Given the description of an element on the screen output the (x, y) to click on. 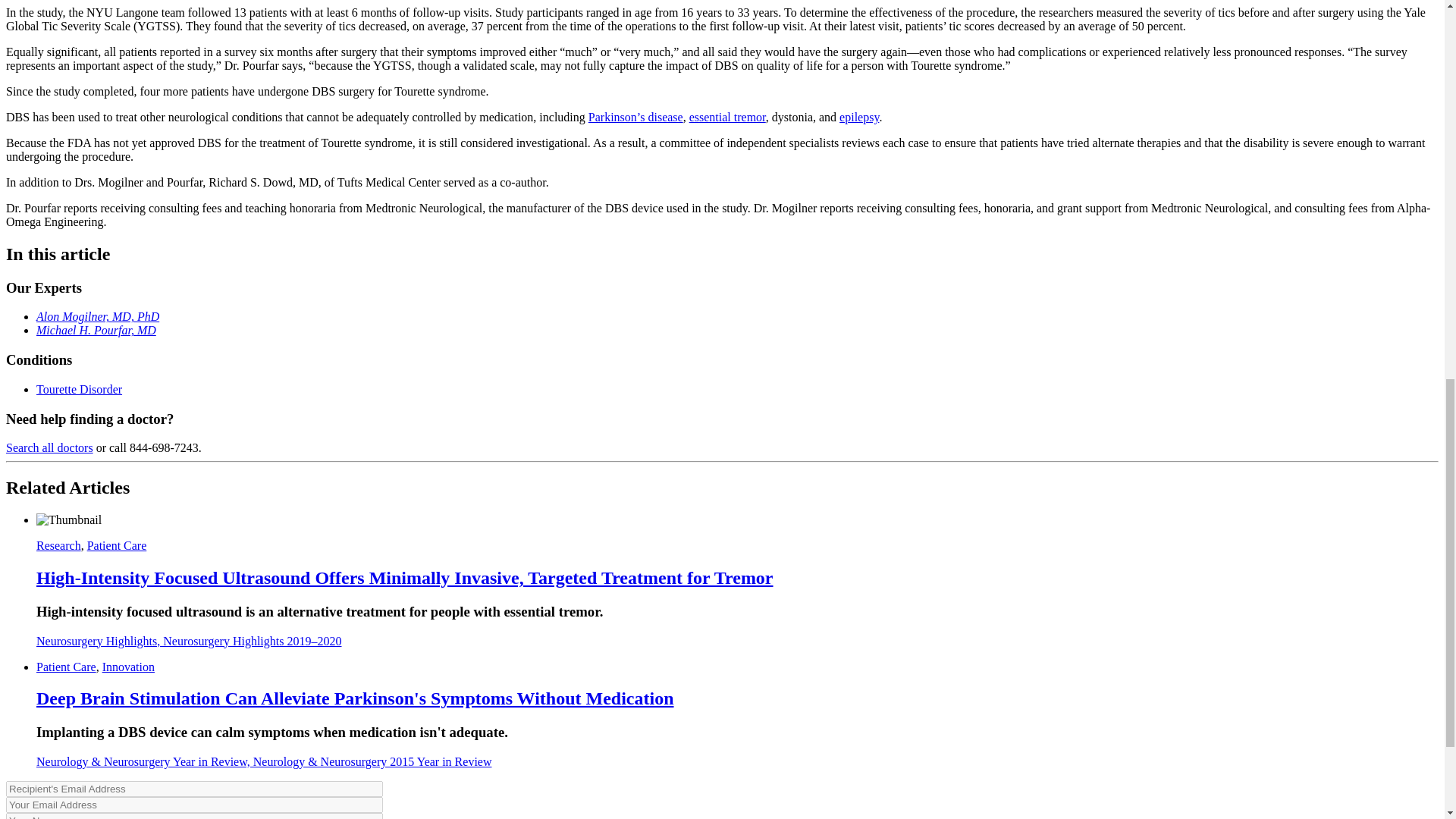
Tourette Disorder (79, 389)
essential tremor (726, 116)
Search all doctors (49, 447)
Patient Care (117, 545)
Patient Care (66, 666)
specialty-report-2019-neurosurgery-dr-alon-mogilner.jpg (68, 520)
Alon Mogilner, MD, PhD (97, 316)
Research (58, 545)
Innovation (127, 666)
epilepsy (859, 116)
Michael H. Pourfar, MD (95, 329)
